Given the description of an element on the screen output the (x, y) to click on. 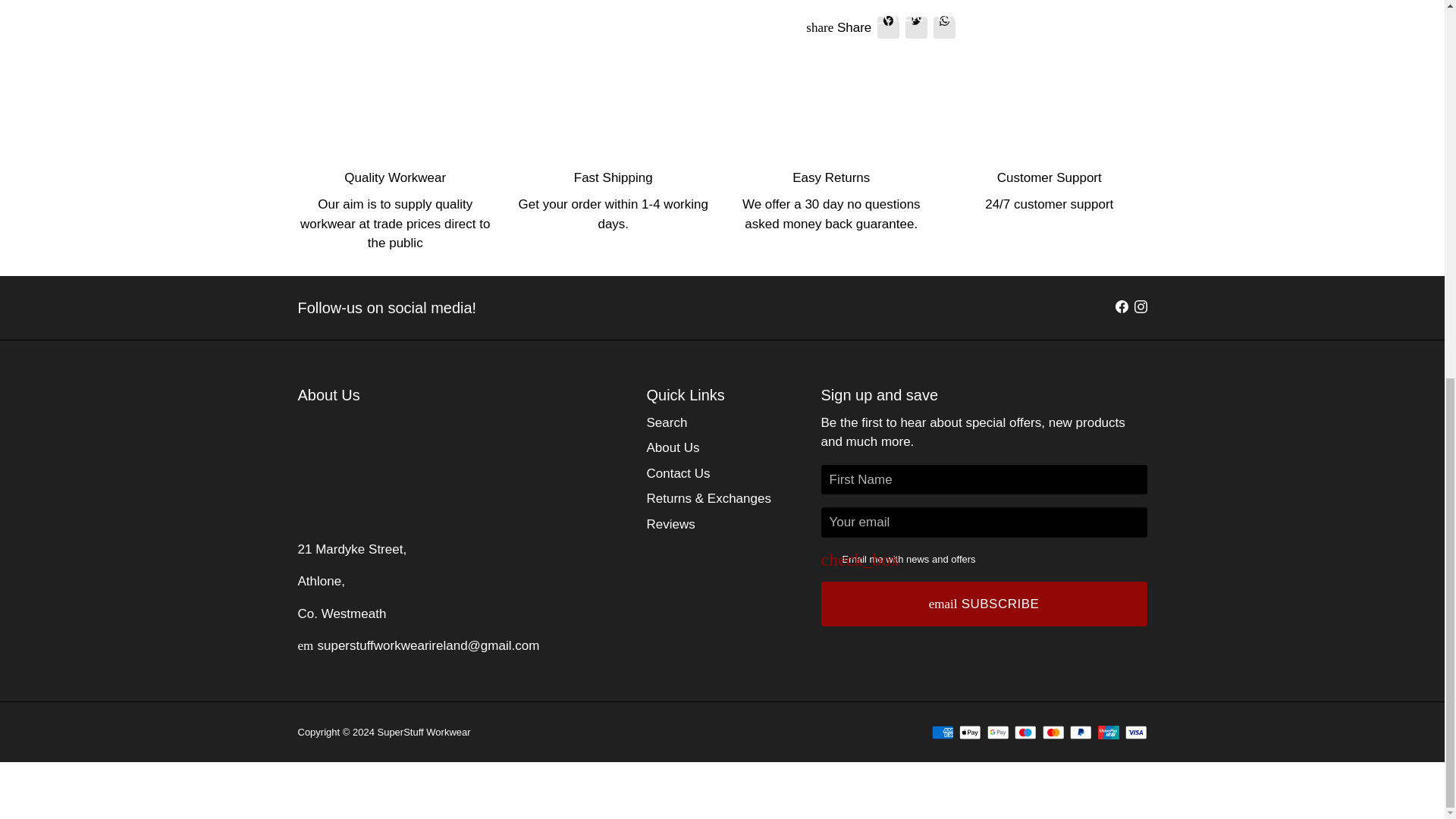
Mastercard (1052, 732)
Maestro (1025, 732)
Apple Pay (970, 732)
Union Pay (1108, 732)
PayPal (1081, 732)
Visa (1136, 732)
Google Pay (998, 732)
American Express (941, 732)
